Given the description of an element on the screen output the (x, y) to click on. 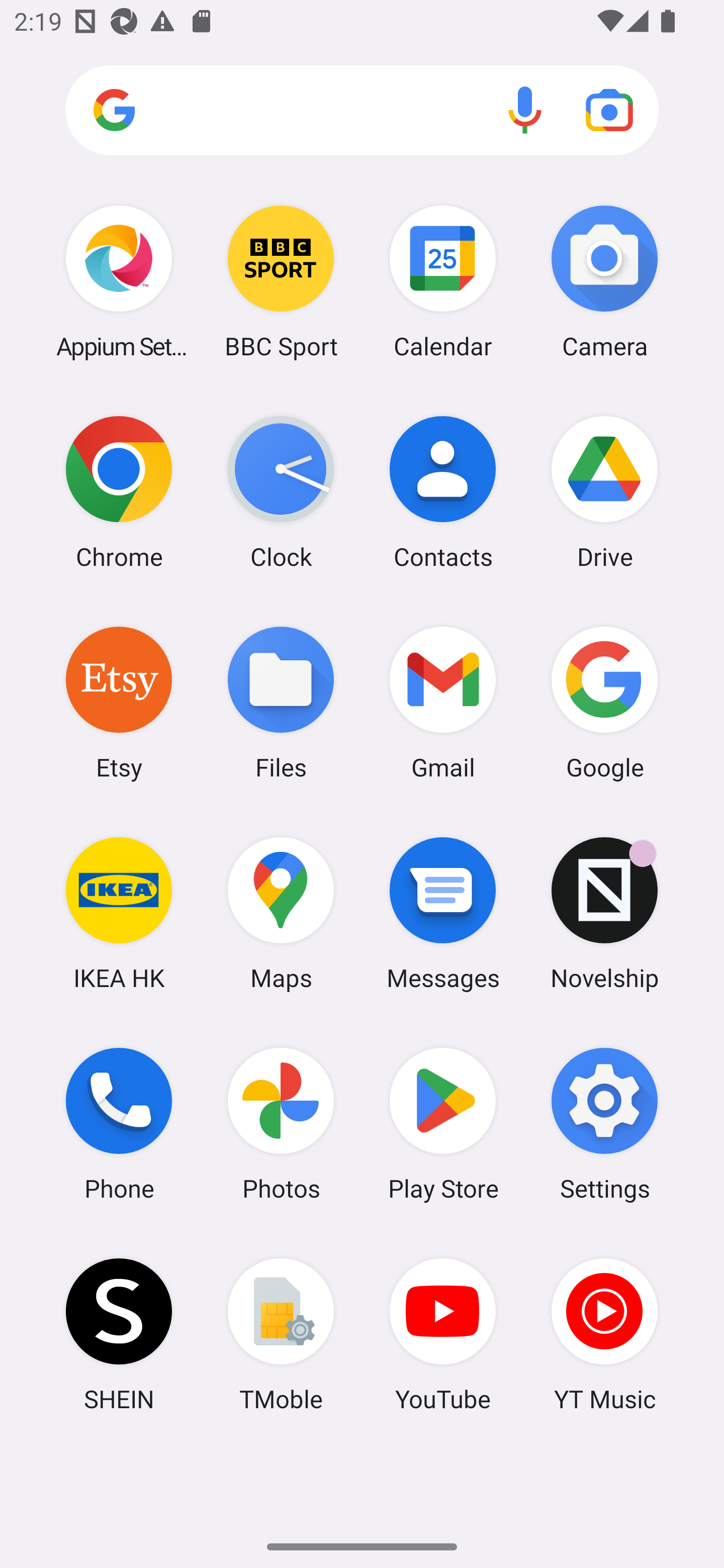
Search apps, web and more (361, 110)
Voice search (524, 109)
Google Lens (608, 109)
Appium Settings (118, 281)
BBC Sport (280, 281)
Calendar (443, 281)
Camera (604, 281)
Chrome (118, 492)
Clock (280, 492)
Contacts (443, 492)
Drive (604, 492)
Etsy (118, 702)
Files (280, 702)
Gmail (443, 702)
Google (604, 702)
IKEA HK (118, 913)
Maps (280, 913)
Messages (443, 913)
Novelship Novelship has 9 notifications (604, 913)
Phone (118, 1124)
Photos (280, 1124)
Play Store (443, 1124)
Settings (604, 1124)
SHEIN (118, 1334)
TMoble (280, 1334)
YouTube (443, 1334)
YT Music (604, 1334)
